Given the description of an element on the screen output the (x, y) to click on. 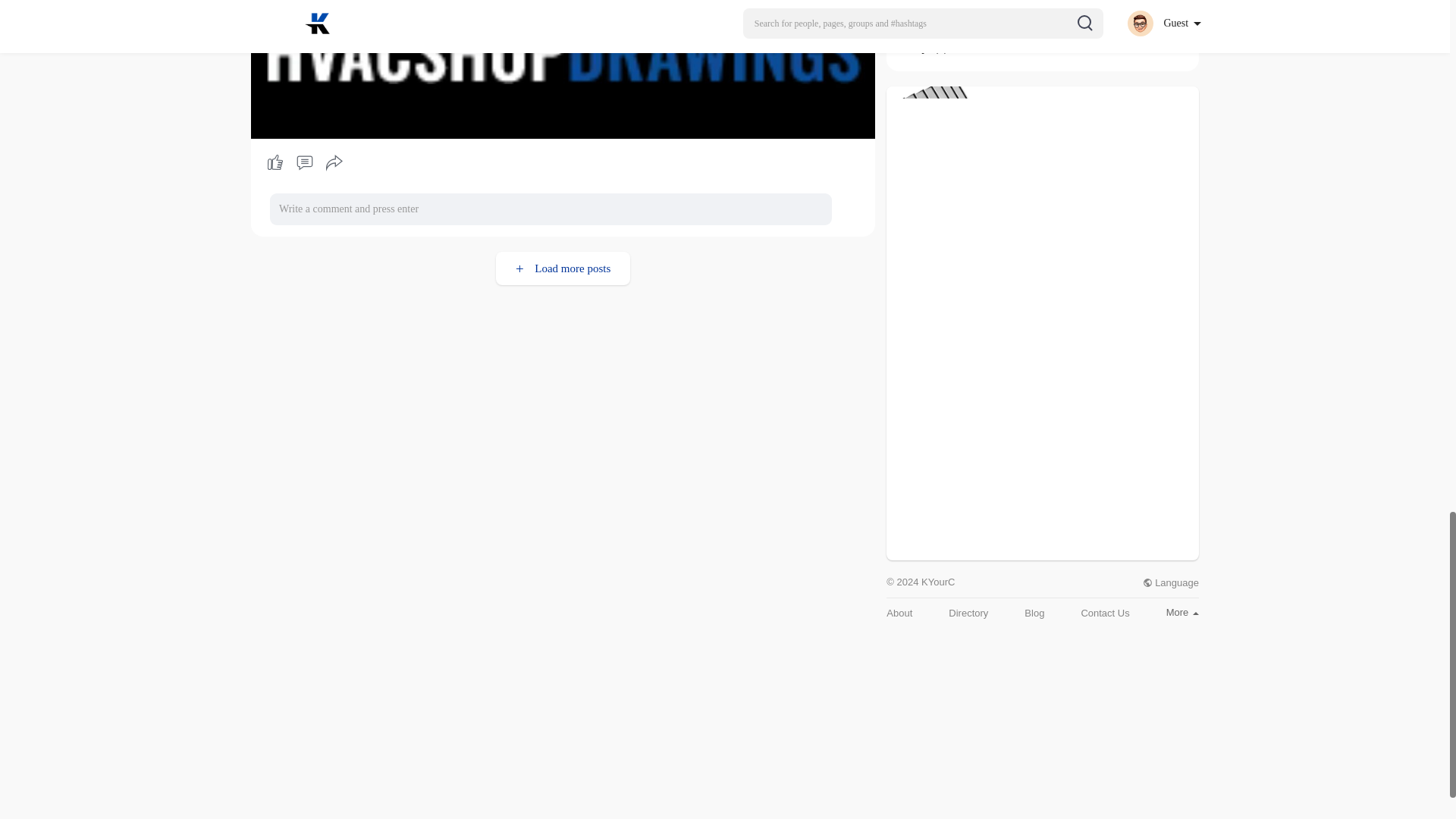
Contact Us (1104, 613)
Comments (304, 162)
Advertisement (1042, 454)
Blog (1034, 613)
Share (334, 162)
Groups (914, 47)
Directory (968, 613)
Language (1170, 583)
About (899, 613)
